Given the description of an element on the screen output the (x, y) to click on. 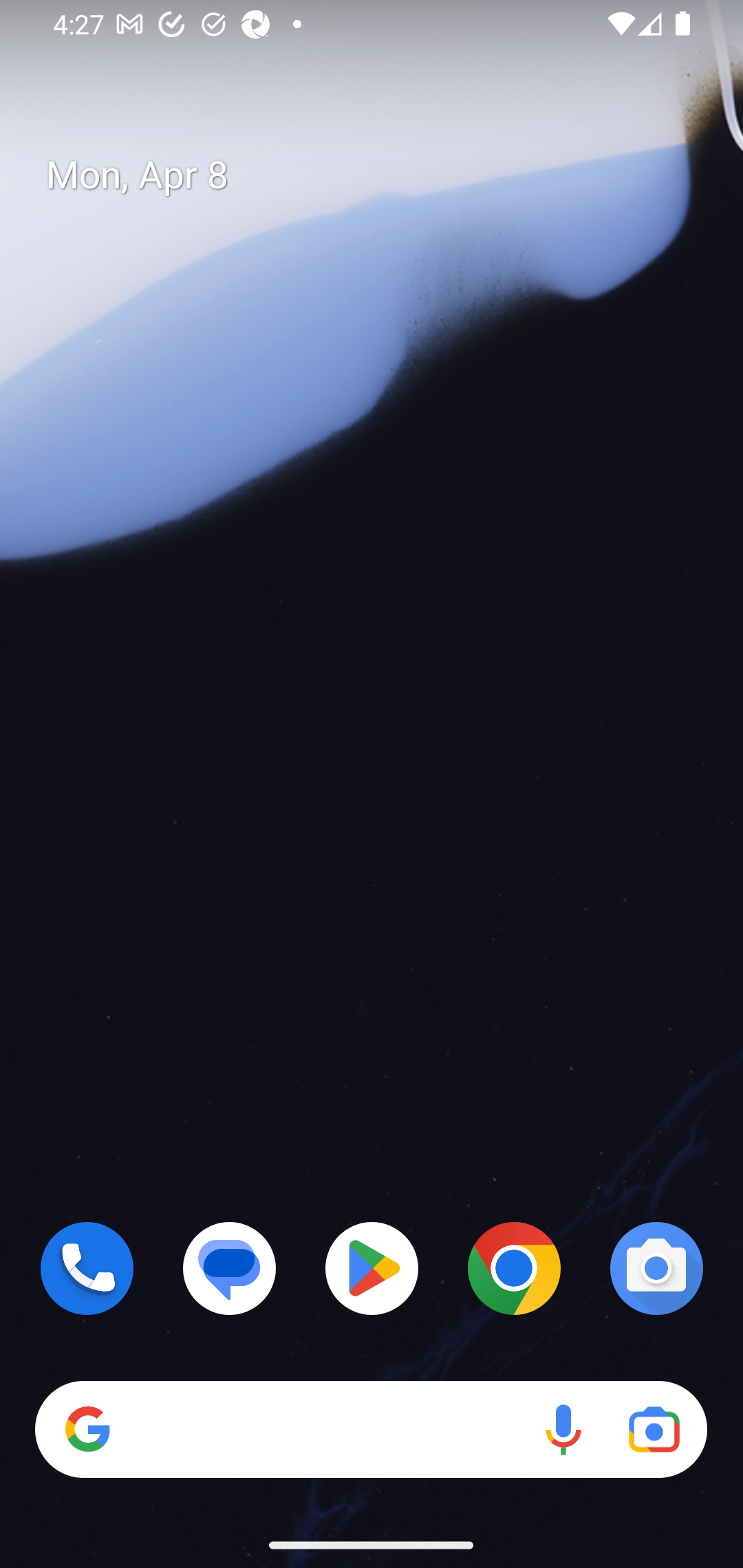
Mon, Apr 8 (386, 175)
Phone (86, 1268)
Messages (229, 1268)
Play Store (371, 1268)
Chrome (513, 1268)
Camera (656, 1268)
Search Voice search Google Lens (370, 1429)
Voice search (562, 1429)
Google Lens (653, 1429)
